Given the description of an element on the screen output the (x, y) to click on. 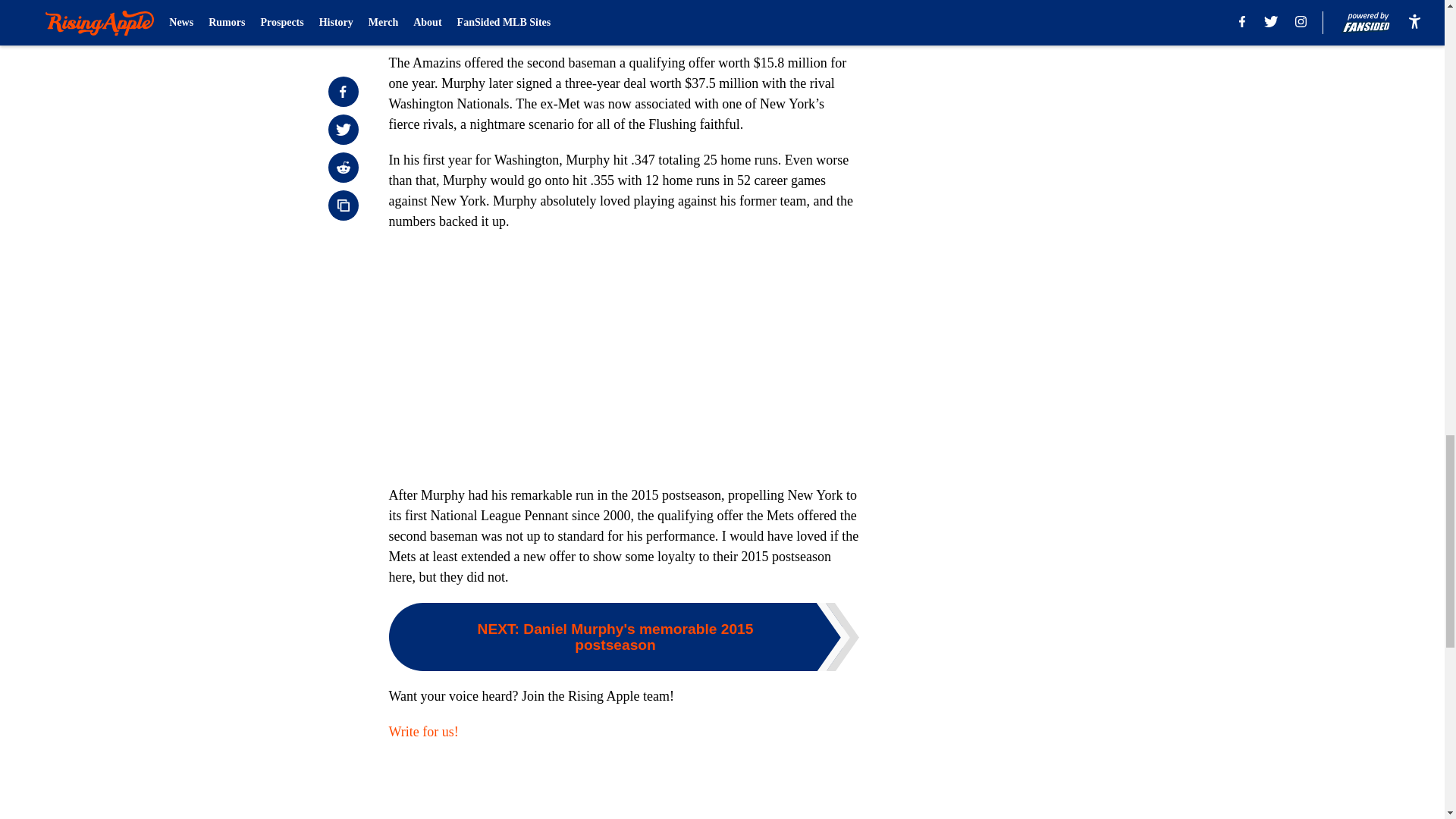
NEXT: Daniel Murphy's memorable 2015 postseason (623, 636)
Write for us! (423, 731)
